Given the description of an element on the screen output the (x, y) to click on. 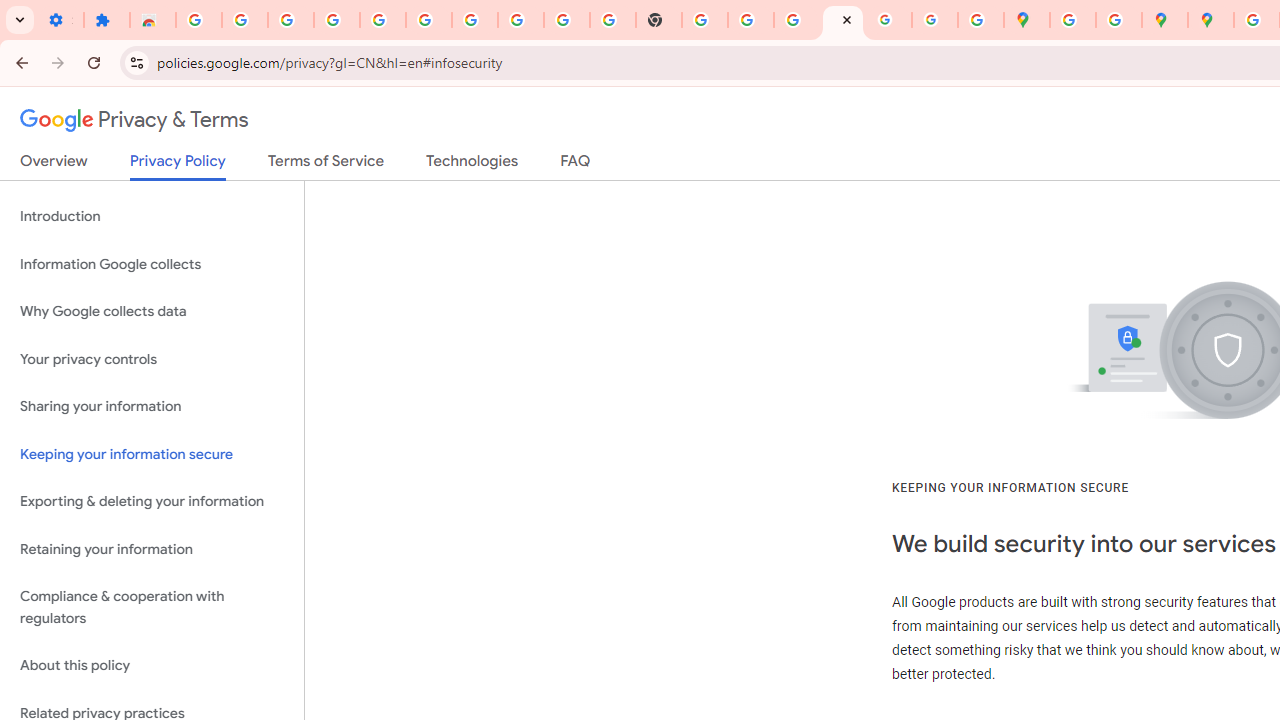
Settings - On startup (60, 20)
